Given the description of an element on the screen output the (x, y) to click on. 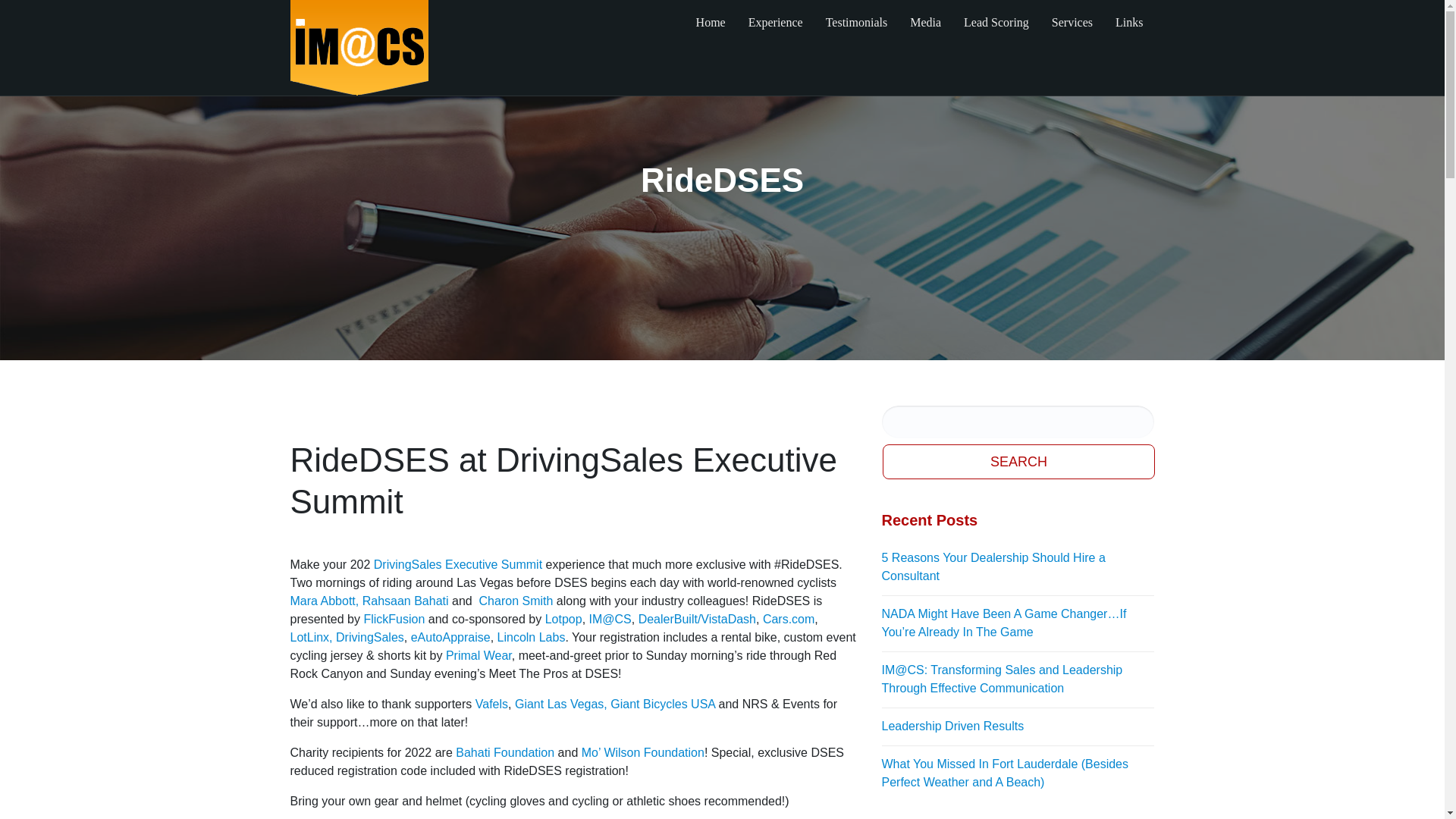
Experience (774, 22)
Lead Scoring (996, 22)
5 Reasons Your Dealership Should Hire a Consultant (1017, 566)
eAutoAppraise (450, 636)
Cars.com (787, 618)
Charon Smith (516, 600)
Search (1019, 461)
Lotpop (563, 618)
Giant Las Vegas, (561, 703)
Rahsaan Bahati (405, 600)
Vafels (492, 703)
Services (1072, 22)
Home (710, 22)
Testimonials (856, 22)
Search (1019, 461)
